Given the description of an element on the screen output the (x, y) to click on. 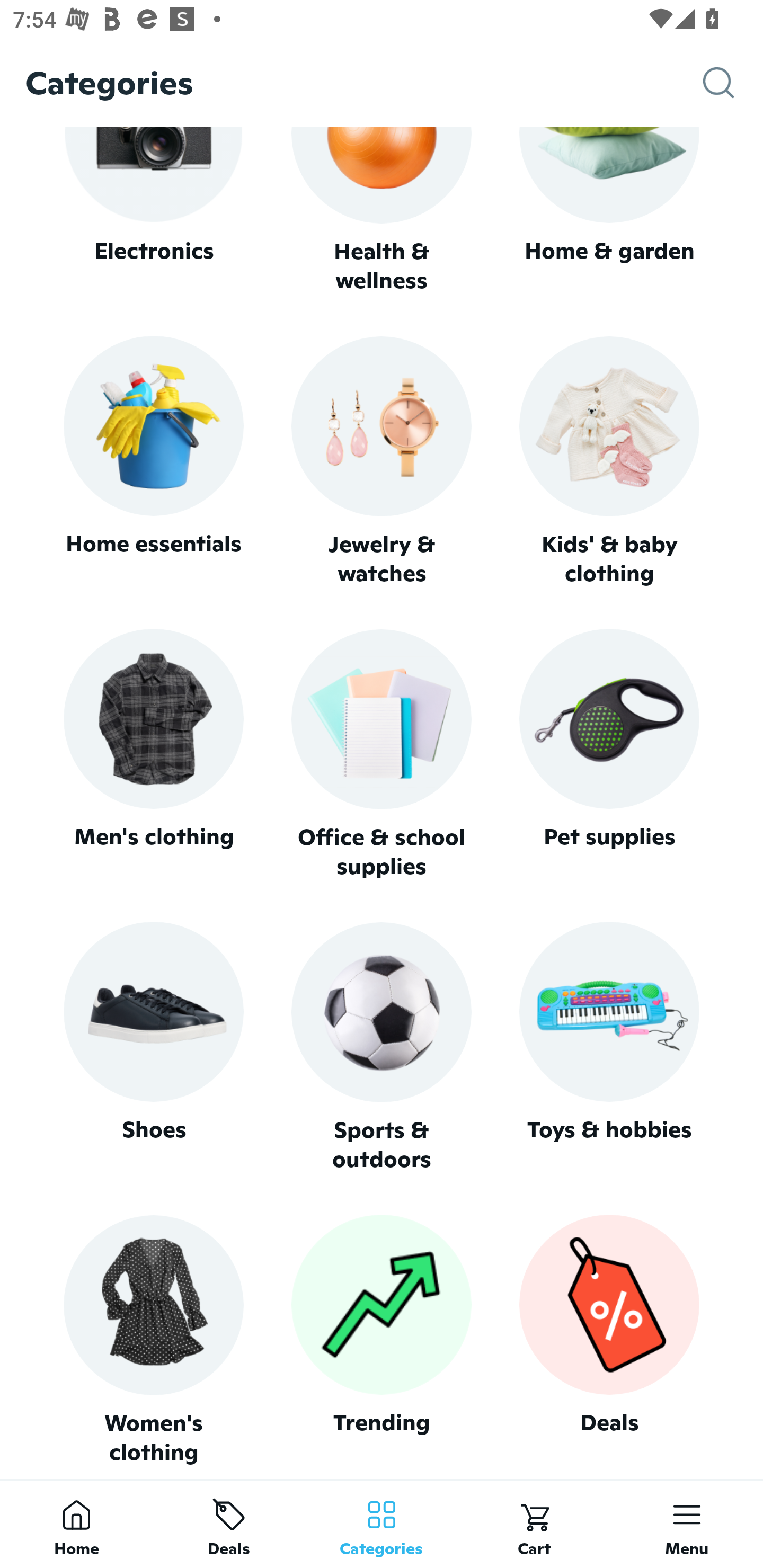
Search (732, 82)
Electronics (153, 210)
Health & wellness (381, 210)
Home & garden (609, 210)
Home essentials (153, 461)
Jewelry & watches (381, 462)
Kids' & baby clothing (609, 462)
Men's clothing (153, 753)
Pet supplies (609, 753)
Office & school supplies (381, 753)
Shoes (153, 1046)
Toys & hobbies (609, 1046)
Sports & outdoors (381, 1046)
Trending (381, 1340)
Deals (609, 1340)
Women's clothing (153, 1340)
Home (76, 1523)
Deals (228, 1523)
Categories (381, 1523)
Cart (533, 1523)
Menu (686, 1523)
